Given the description of an element on the screen output the (x, y) to click on. 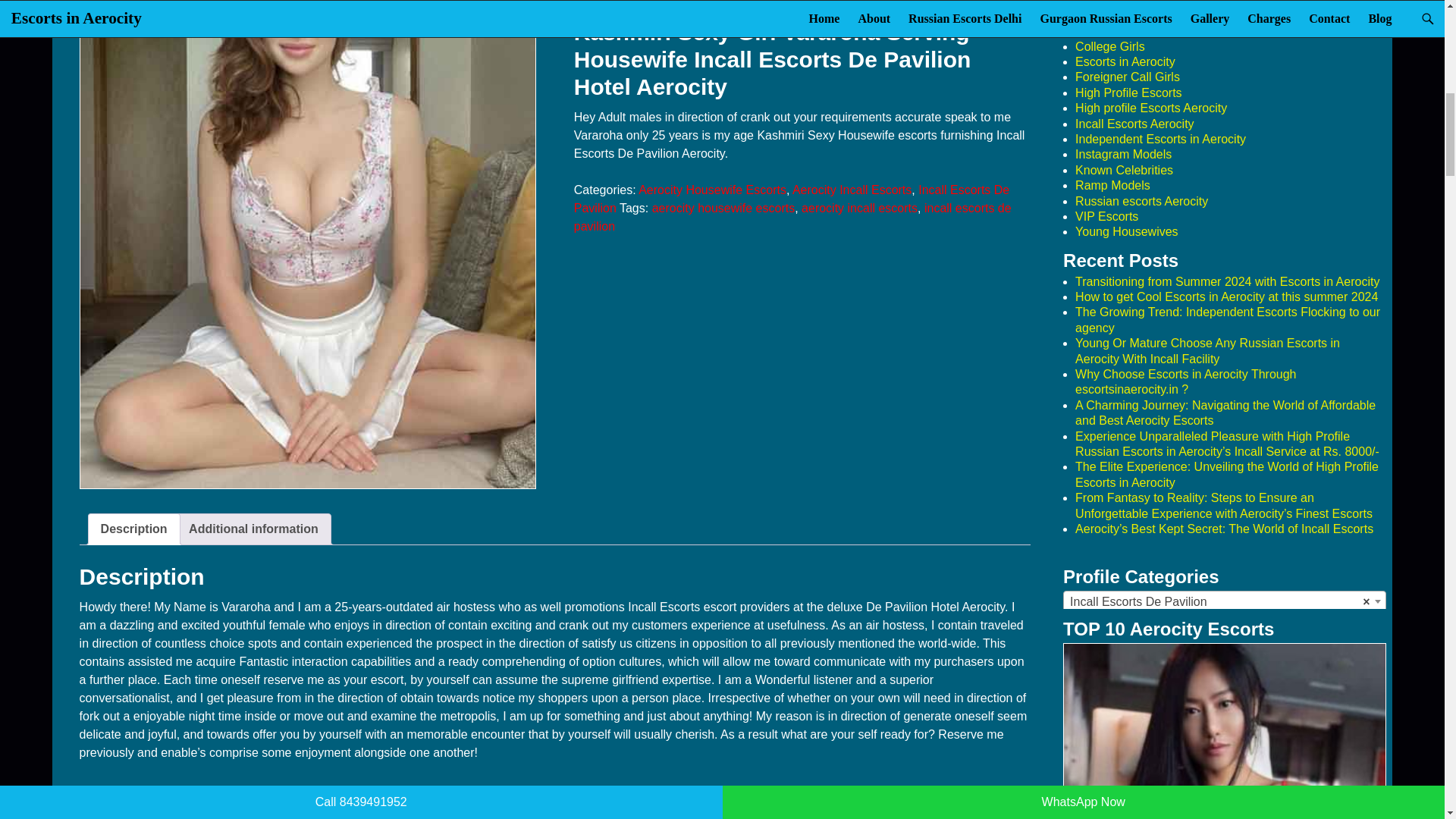
Incall Escorts De Pavilion (1225, 601)
incall escorts de pavilion (792, 216)
Description (133, 529)
Additional information (253, 529)
aerocity housewife escorts (723, 207)
Incall Escorts De Pavilion (791, 198)
Aerocity Incall Escorts (851, 189)
Aerocity Housewife Escorts (712, 189)
aerocity incall escorts (859, 207)
